Given the description of an element on the screen output the (x, y) to click on. 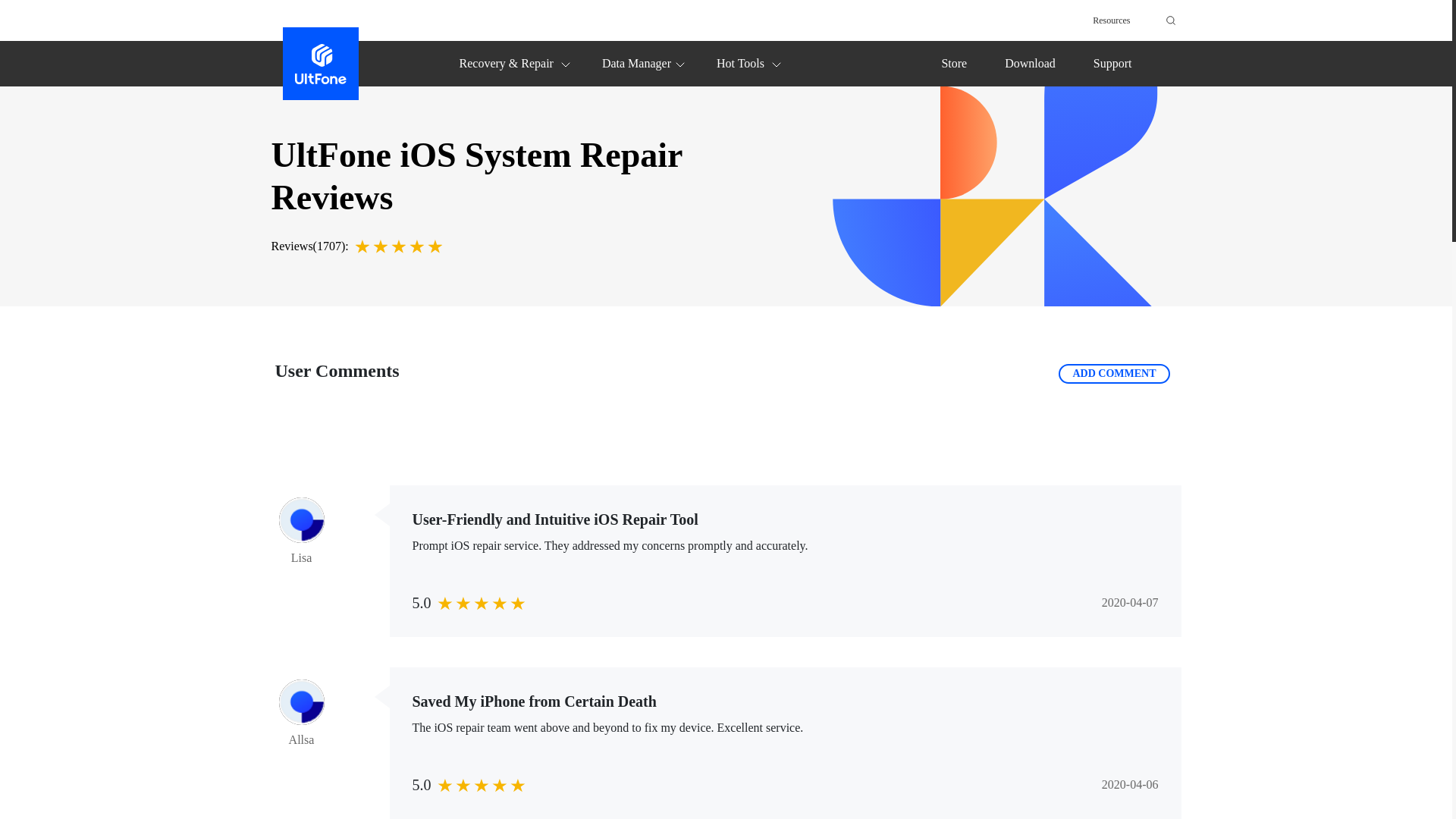
Store (953, 62)
Support (1112, 62)
Download (1029, 62)
submit button (1167, 20)
submit button (1167, 20)
Resources (1111, 20)
submit button (1167, 20)
